Given the description of an element on the screen output the (x, y) to click on. 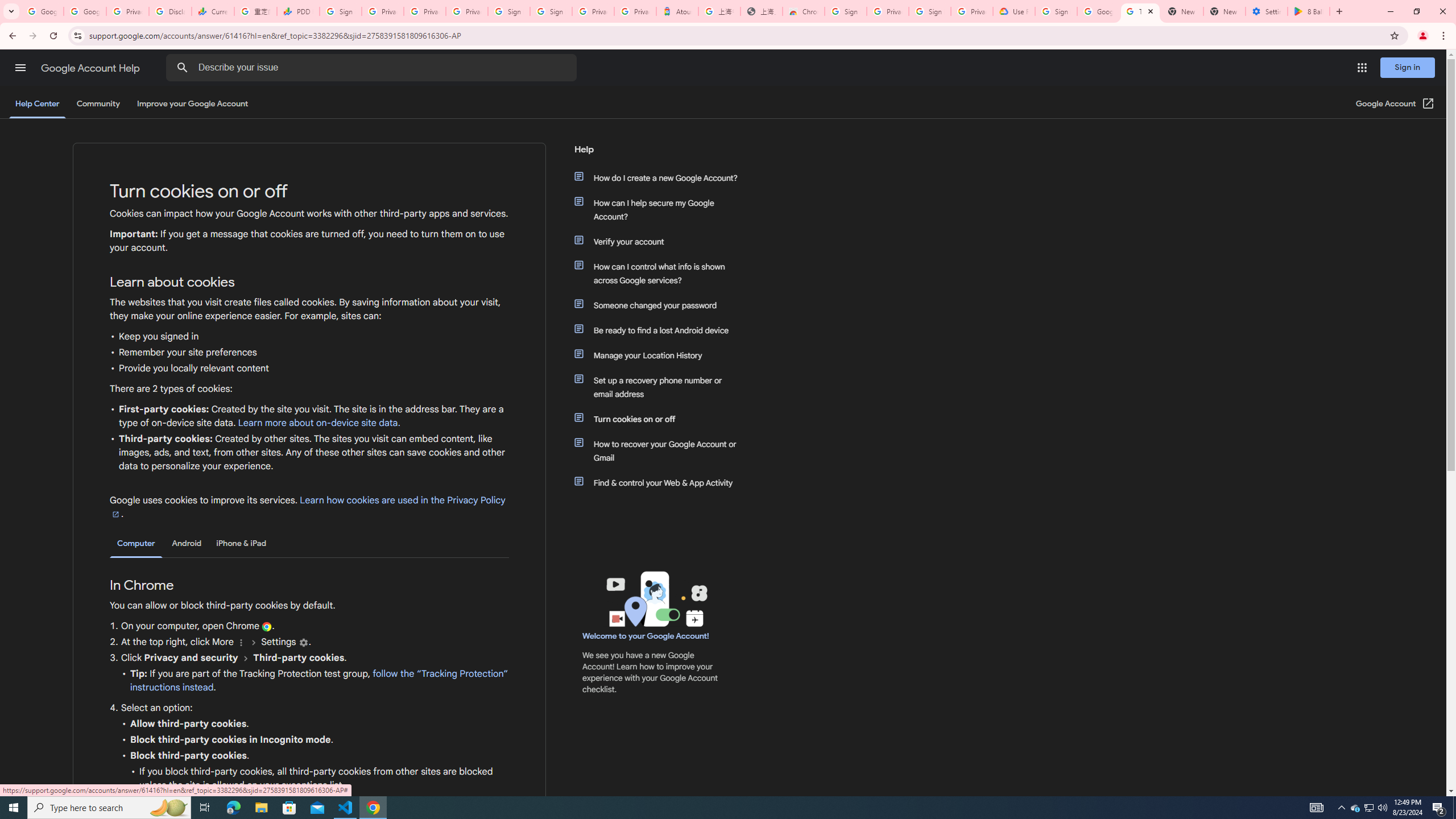
Learn more about on-device site data. (318, 423)
Community (97, 103)
